Given the description of an element on the screen output the (x, y) to click on. 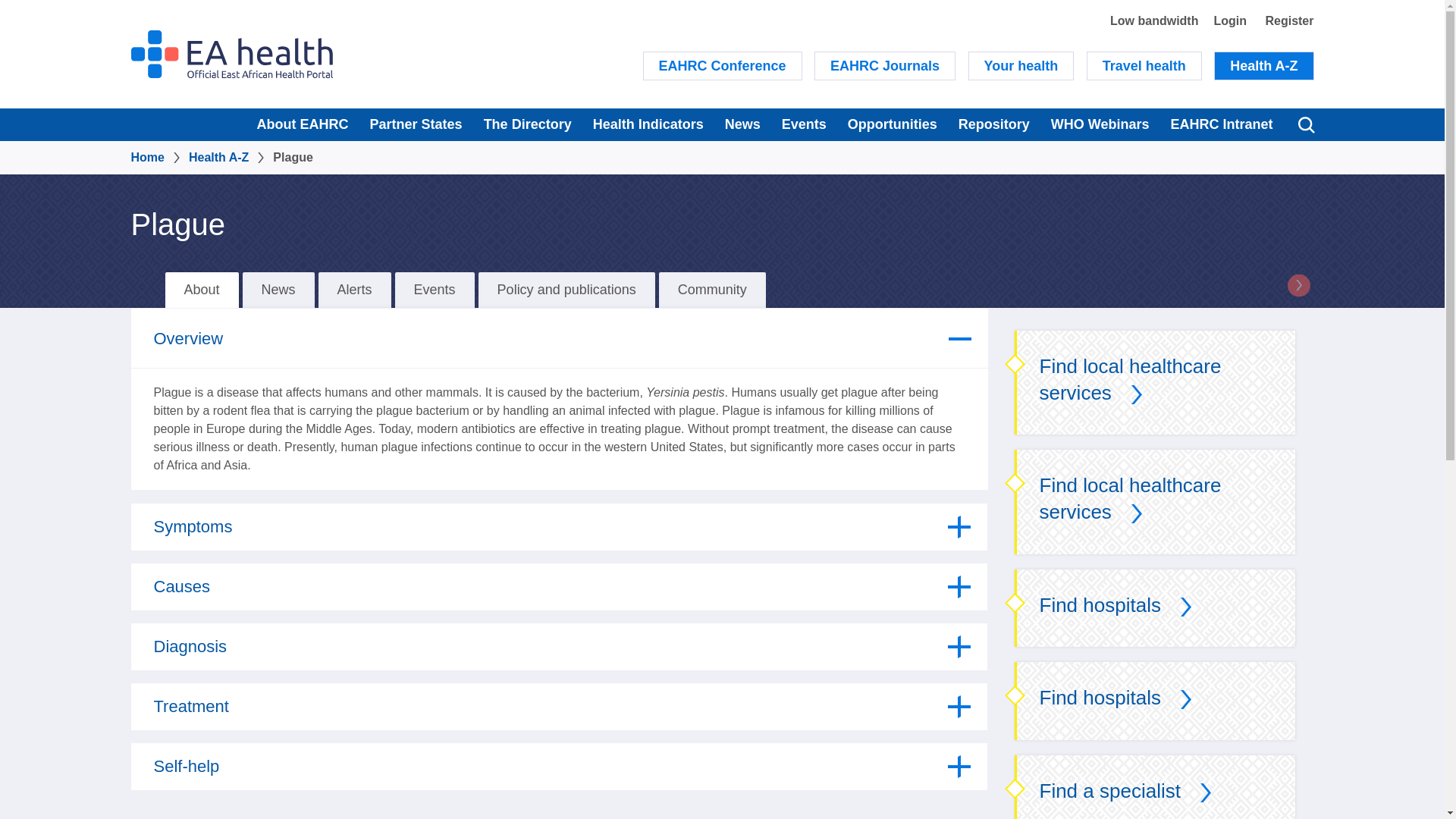
Login (1229, 20)
Register (1289, 20)
Partner States (416, 124)
EAHRC Journals (884, 65)
Travel health (1144, 65)
Low bandwidth (1153, 20)
Home (231, 53)
Your health (1021, 65)
About EAHRC (302, 124)
Events (804, 124)
Health A-Z (1263, 65)
Low bandwidth (1153, 20)
Health Indicators (648, 124)
News (742, 124)
